Given the description of an element on the screen output the (x, y) to click on. 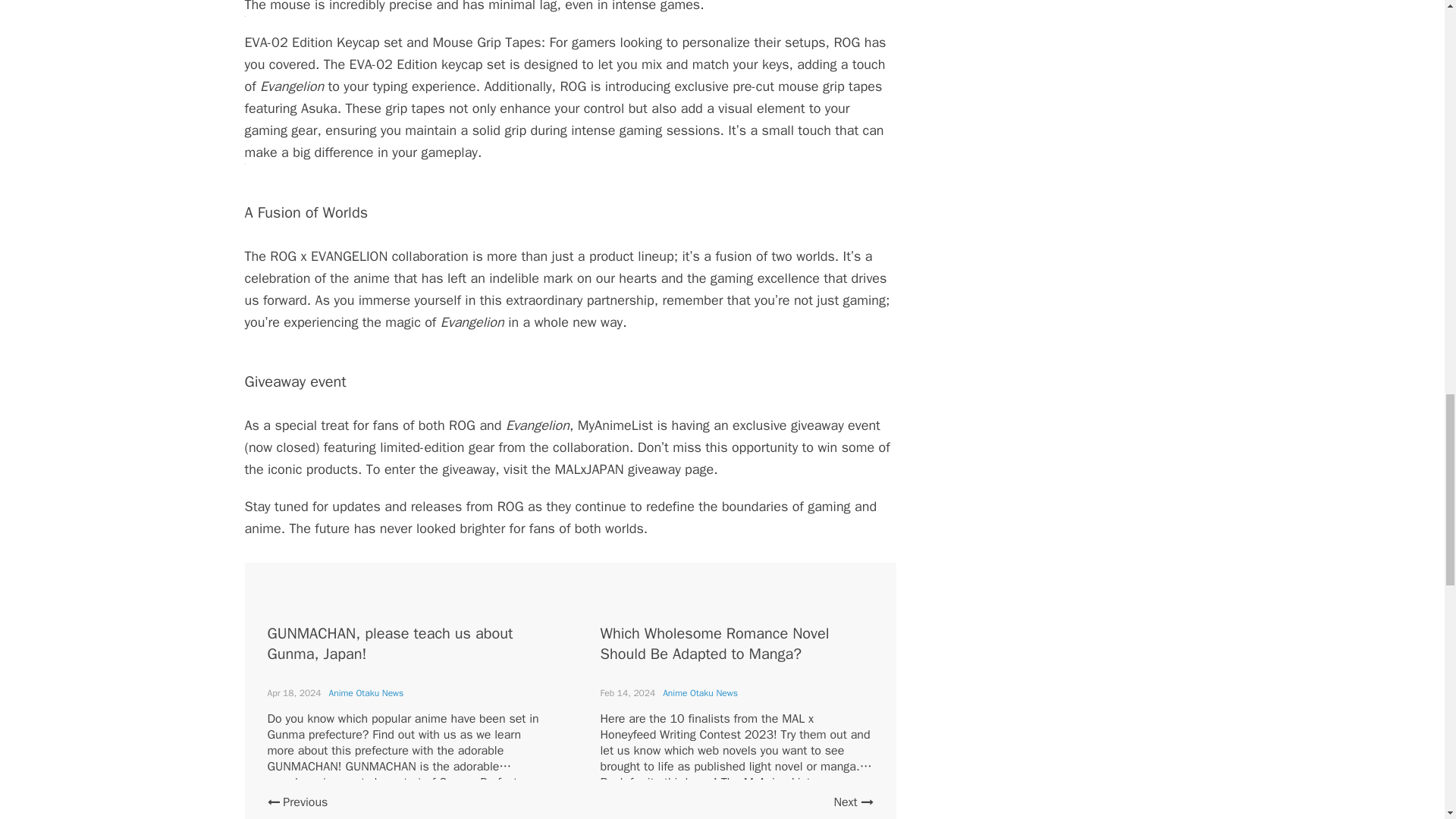
Next (852, 801)
Anime Otaku News (700, 693)
Which Wholesome Romance Novel Should Be Adapted to Manga? (714, 643)
GUNMACHAN, please teach us about Gunma, Japan! (389, 643)
Anime Otaku News (366, 693)
Previous (296, 801)
